Given the description of an element on the screen output the (x, y) to click on. 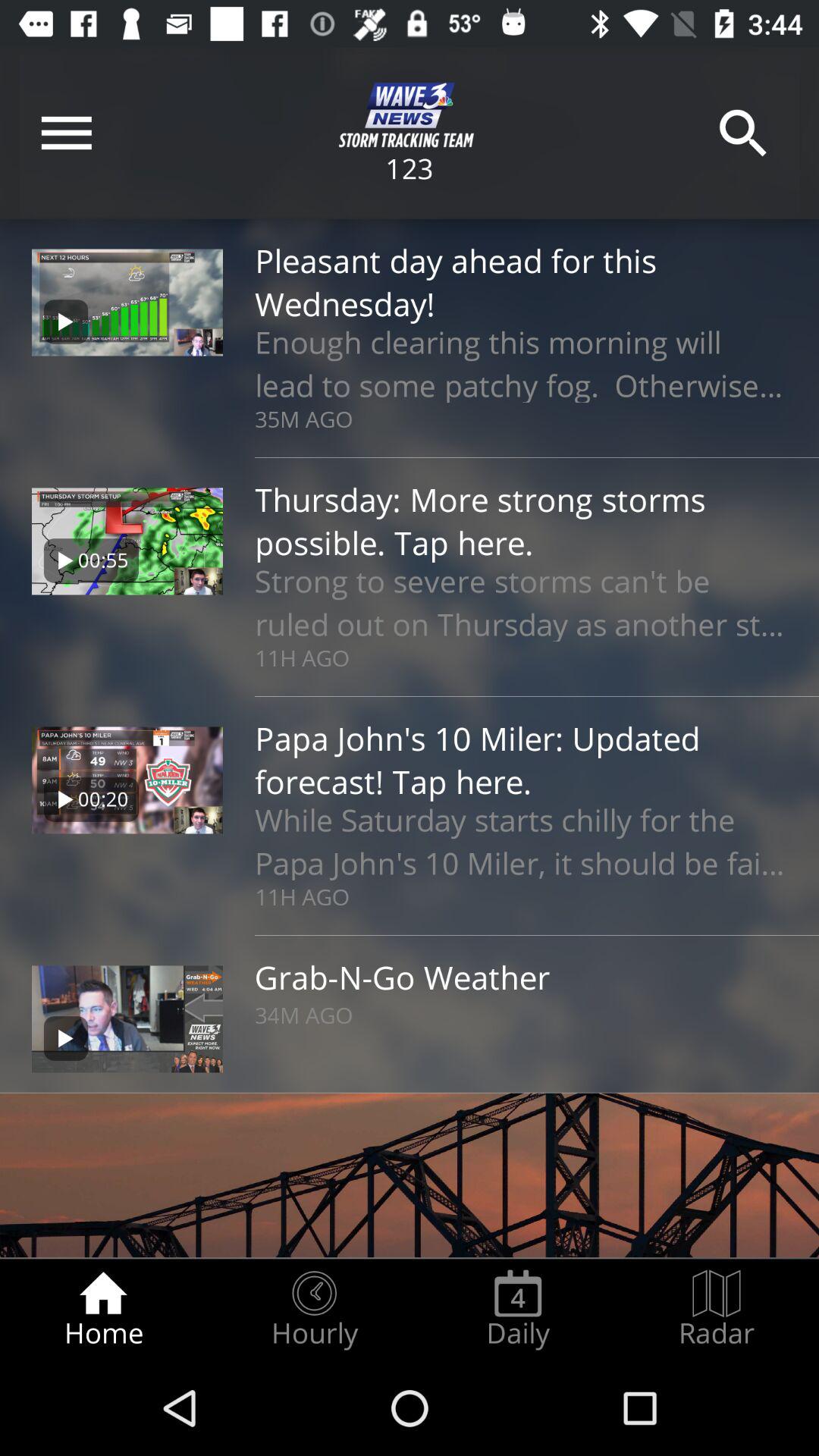
launch radio button next to home radio button (314, 1309)
